Given the description of an element on the screen output the (x, y) to click on. 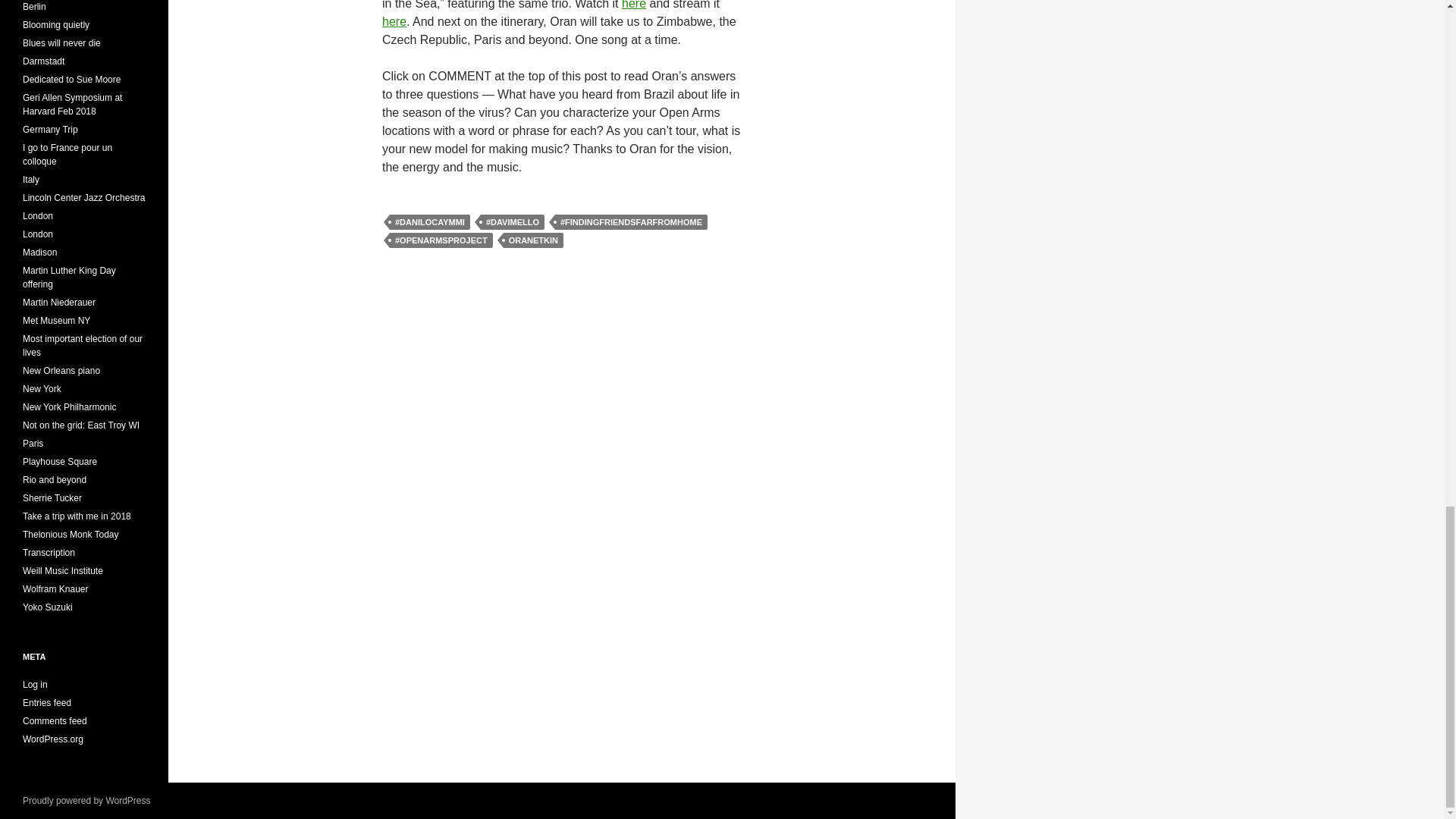
ORANETKIN (533, 240)
here (633, 4)
here (393, 21)
